Given the description of an element on the screen output the (x, y) to click on. 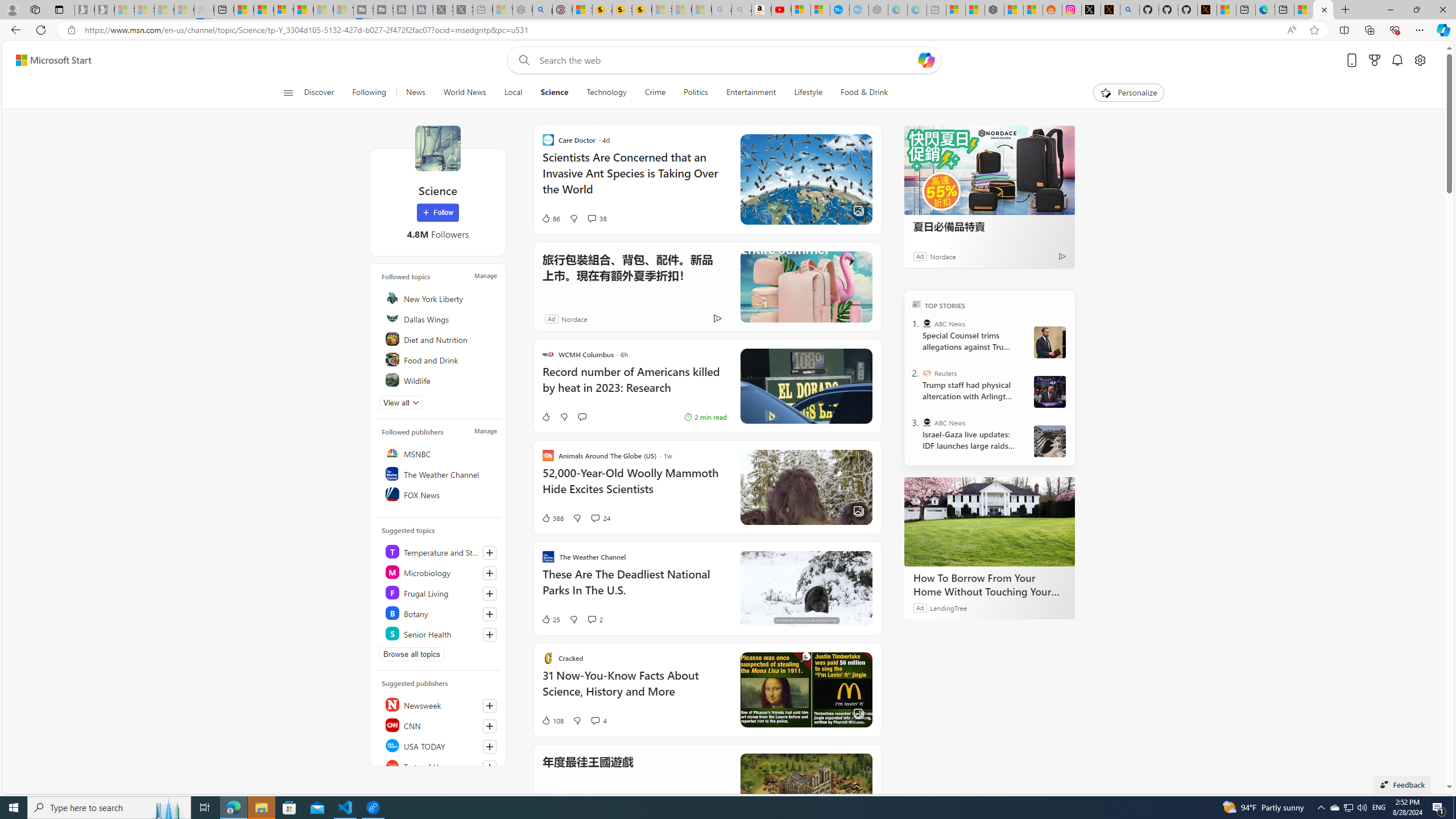
MSNBC (439, 452)
Entertainment (750, 92)
Food and Drink (439, 359)
Crime (654, 92)
Class: button-glyph (287, 92)
View comments 4 Comment (598, 720)
help.x.com | 524: A timeout occurred (1110, 9)
Newsweek (439, 704)
Enter your search term (726, 59)
News (414, 92)
Technology (606, 92)
